Given the description of an element on the screen output the (x, y) to click on. 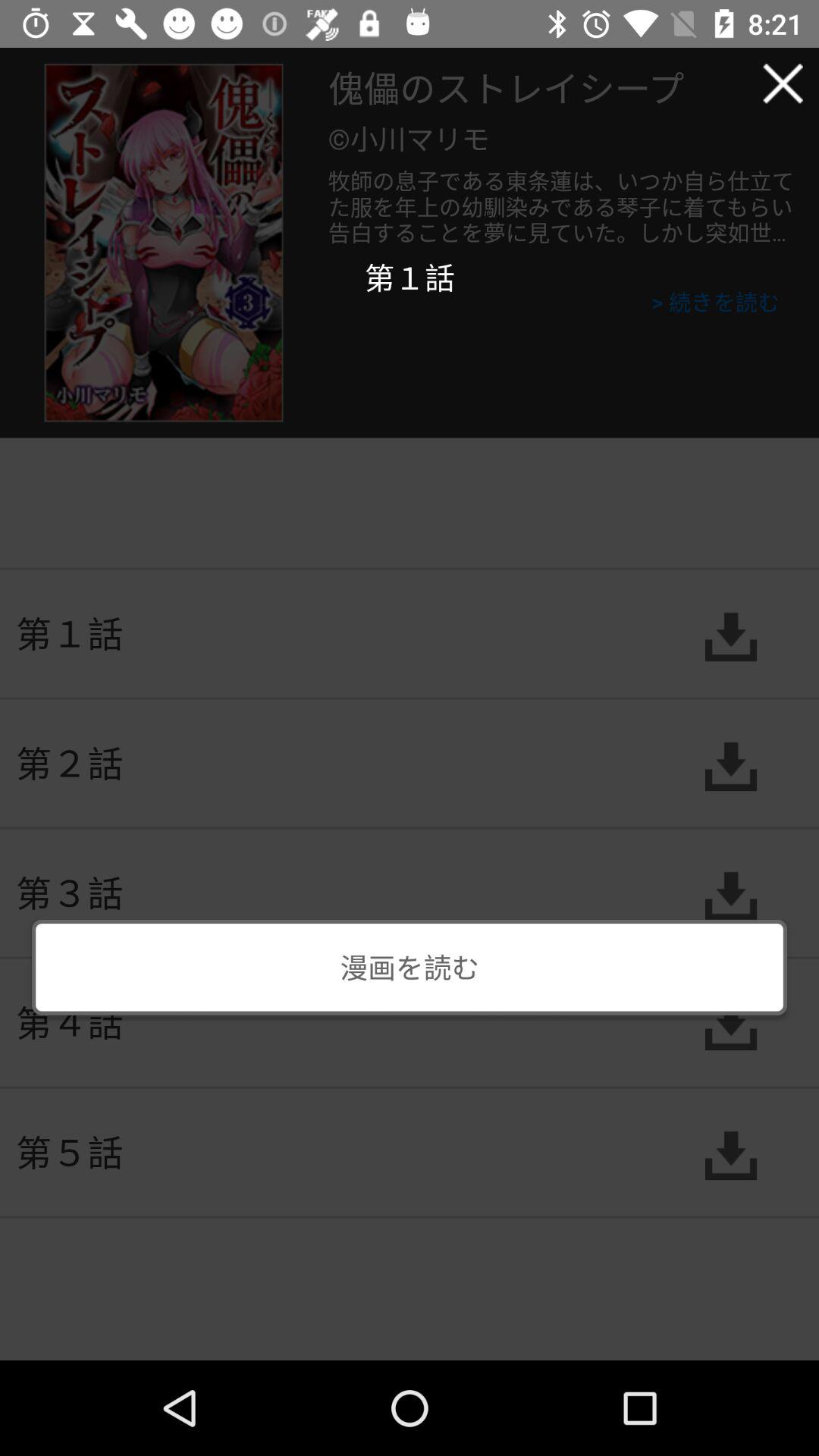
turn off the item at the top right corner (783, 83)
